Given the description of an element on the screen output the (x, y) to click on. 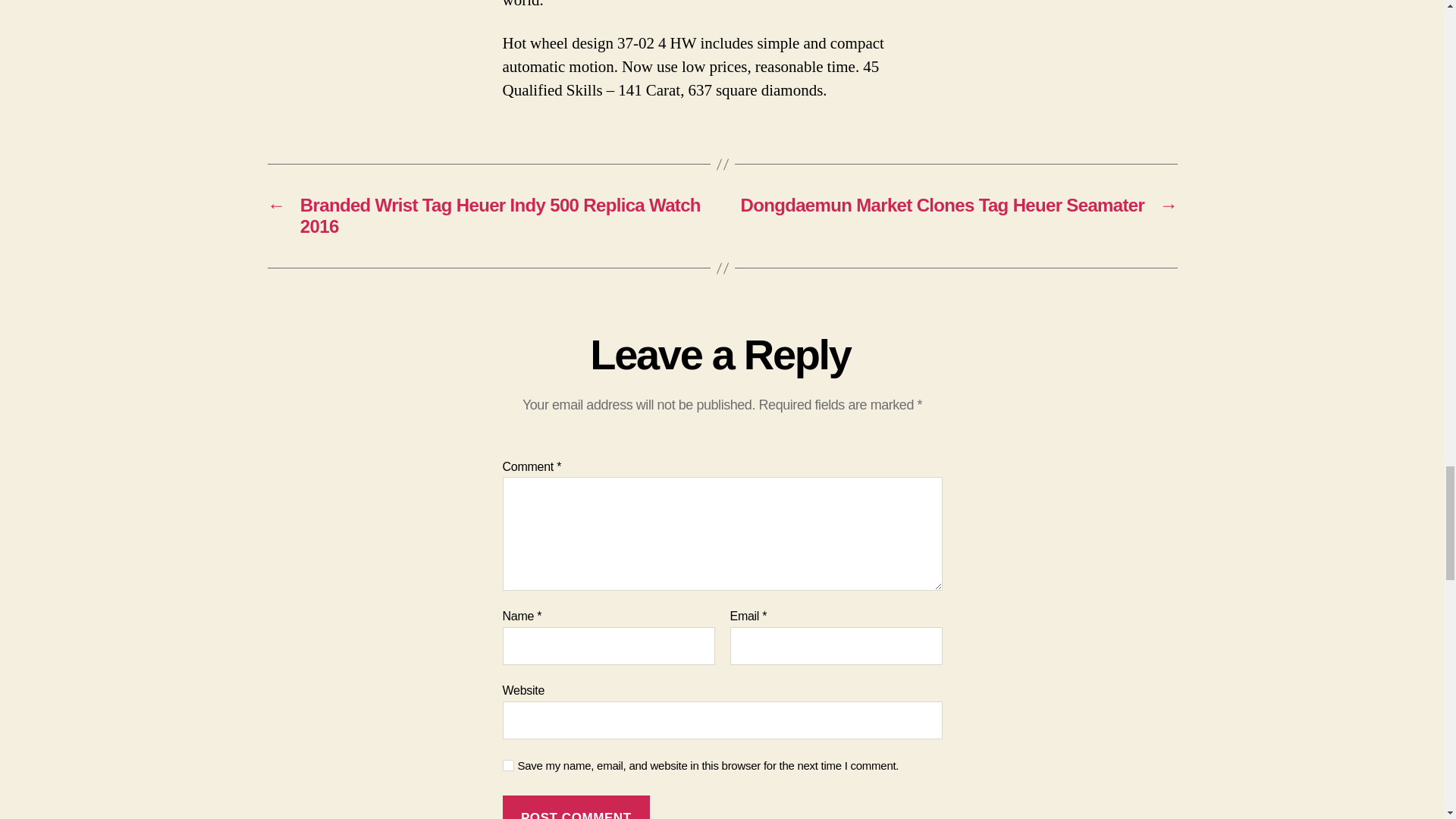
Post Comment (575, 807)
yes (507, 765)
Post Comment (575, 807)
